Given the description of an element on the screen output the (x, y) to click on. 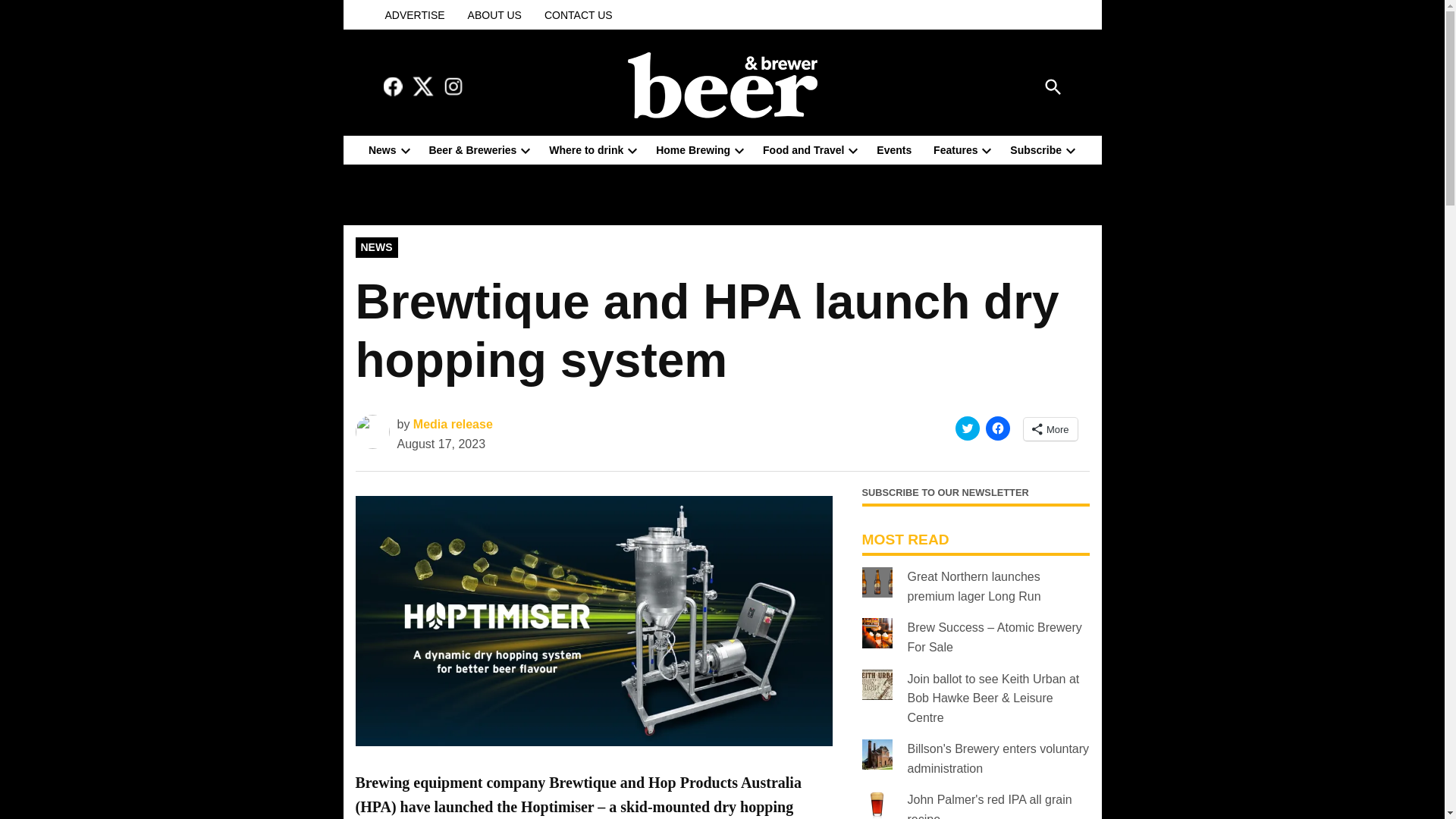
Billson's Brewery enters voluntary administration (998, 758)
Great Northern launches premium lager Long Run (974, 586)
John Palmer's red IPA all grain recipe (989, 806)
Click to share on Twitter (967, 428)
Click to share on Facebook (997, 428)
